Given the description of an element on the screen output the (x, y) to click on. 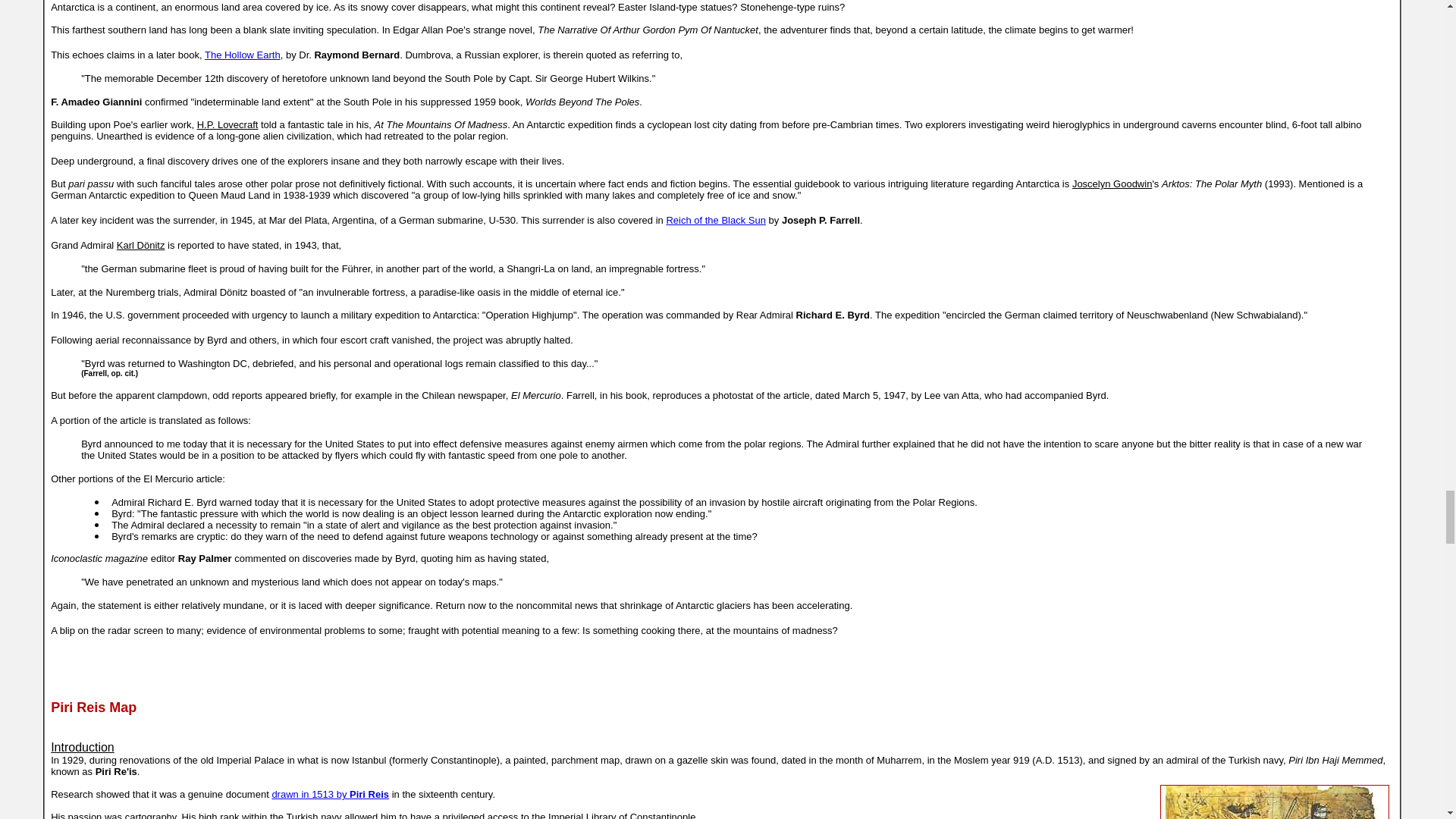
drawn in 1513 by Piri Reis (329, 794)
The Hollow Earth (243, 54)
Reich of the Black Sun (715, 220)
